Given the description of an element on the screen output the (x, y) to click on. 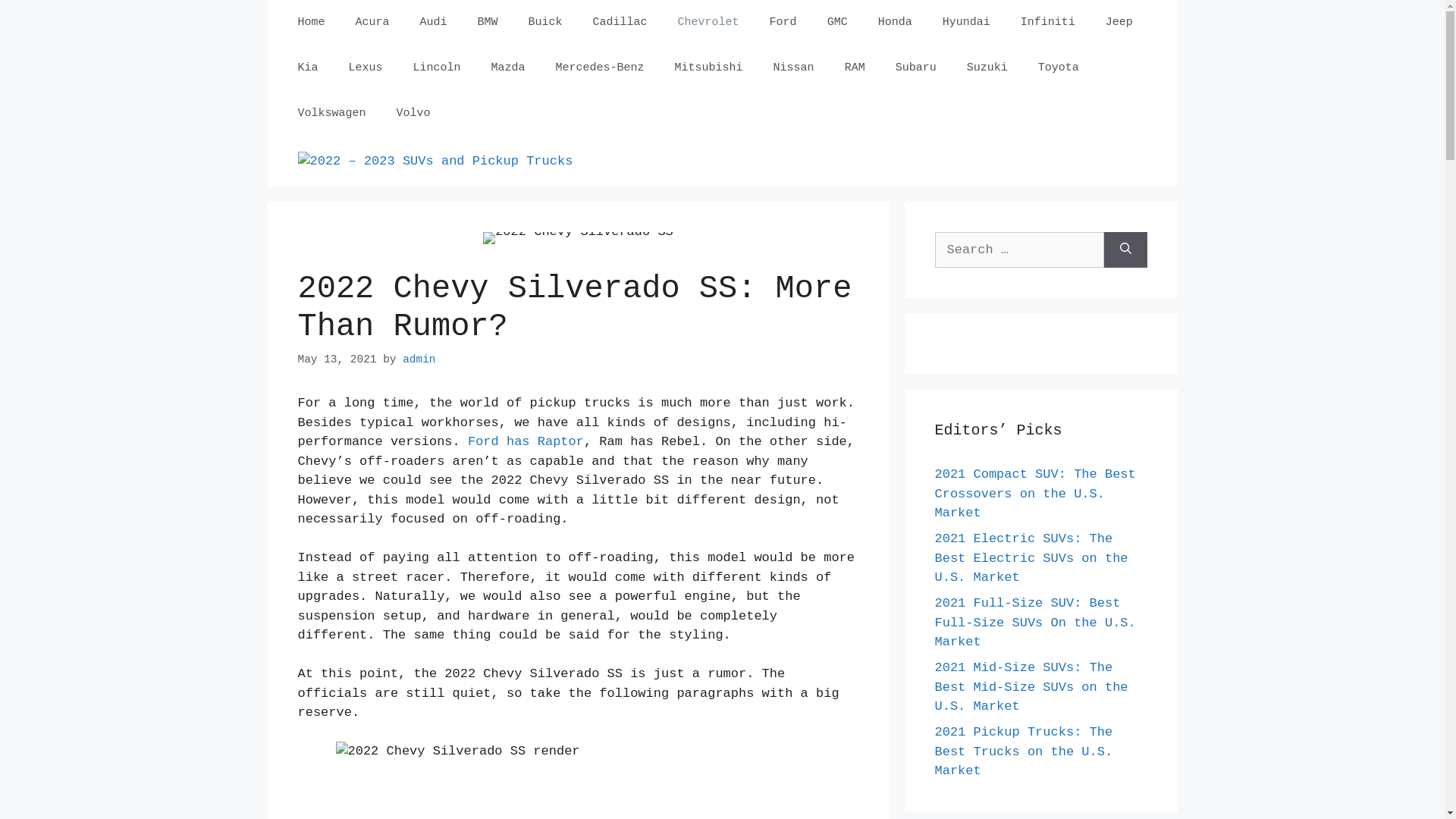
Audi Element type: text (433, 22)
Kia Element type: text (307, 68)
Mercedes-Benz Element type: text (599, 68)
Jeep Element type: text (1119, 22)
Acura Element type: text (372, 22)
Mazda Element type: text (508, 68)
Suzuki Element type: text (986, 68)
Buick Element type: text (545, 22)
Volvo Element type: text (413, 113)
Home Element type: text (310, 22)
Infiniti Element type: text (1047, 22)
Nissan Element type: text (793, 68)
Lincoln Element type: text (437, 68)
BMW Element type: text (487, 22)
admin Element type: text (418, 359)
Toyota Element type: text (1058, 68)
2021 Pickup Trucks: The Best Trucks on the U.S. Market Element type: text (1023, 751)
Hyundai Element type: text (966, 22)
RAM Element type: text (854, 68)
Subaru Element type: text (915, 68)
Chevrolet Element type: text (708, 22)
Mitsubishi Element type: text (708, 68)
Cadillac Element type: text (619, 22)
Search for: Element type: hover (1018, 250)
2021 Full-Size SUV: Best Full-Size SUVs On the U.S. Market Element type: text (1034, 622)
Volkswagen Element type: text (331, 113)
GMC Element type: text (837, 22)
2021 Compact SUV: The Best Crossovers on the U.S. Market Element type: text (1034, 493)
Ford Element type: text (783, 22)
Ford has Raptor Element type: text (525, 441)
Lexus Element type: text (365, 68)
Honda Element type: text (894, 22)
